Given the description of an element on the screen output the (x, y) to click on. 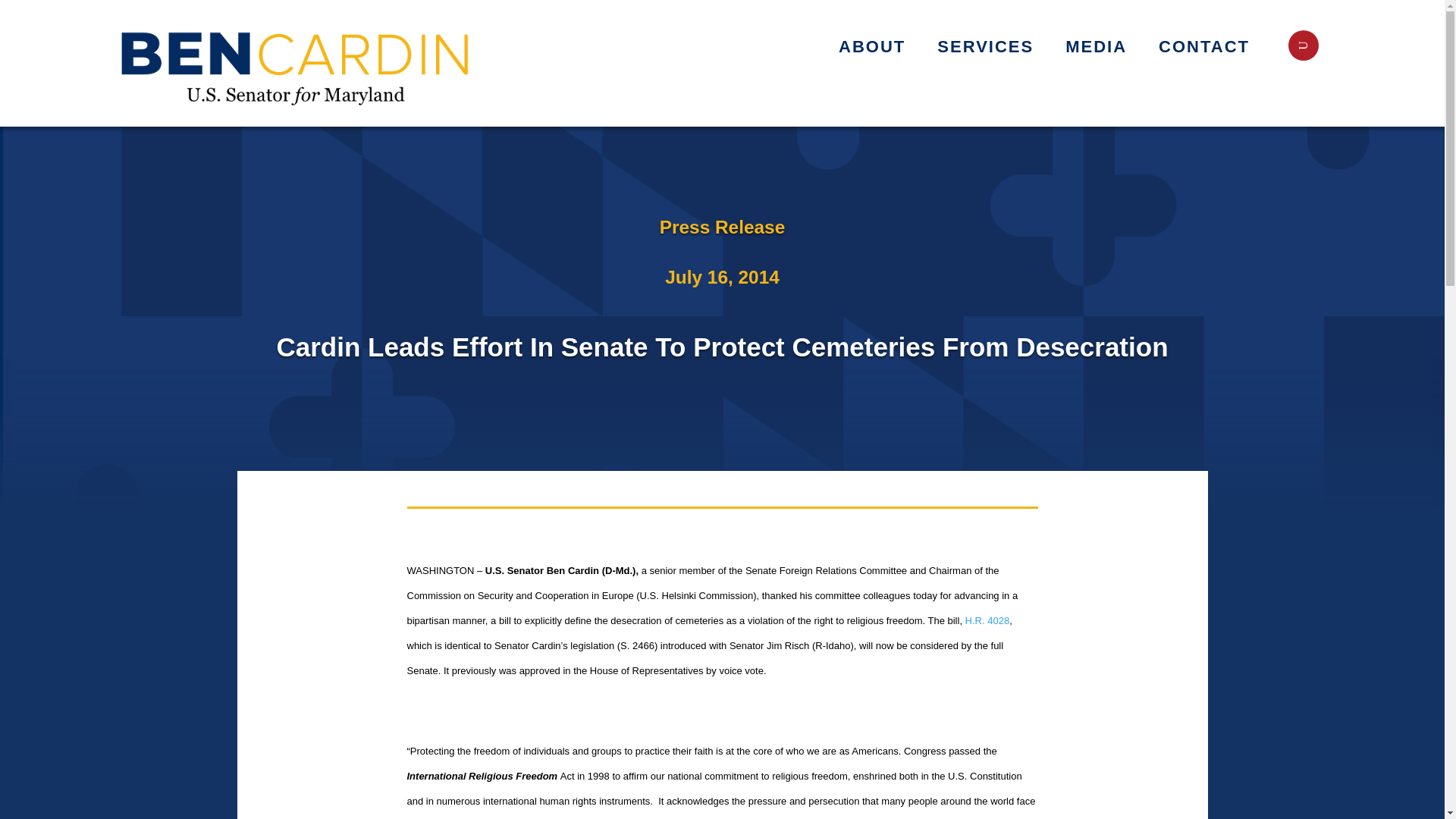
ABOUT (879, 49)
Large-Inner (296, 63)
